Given the description of an element on the screen output the (x, y) to click on. 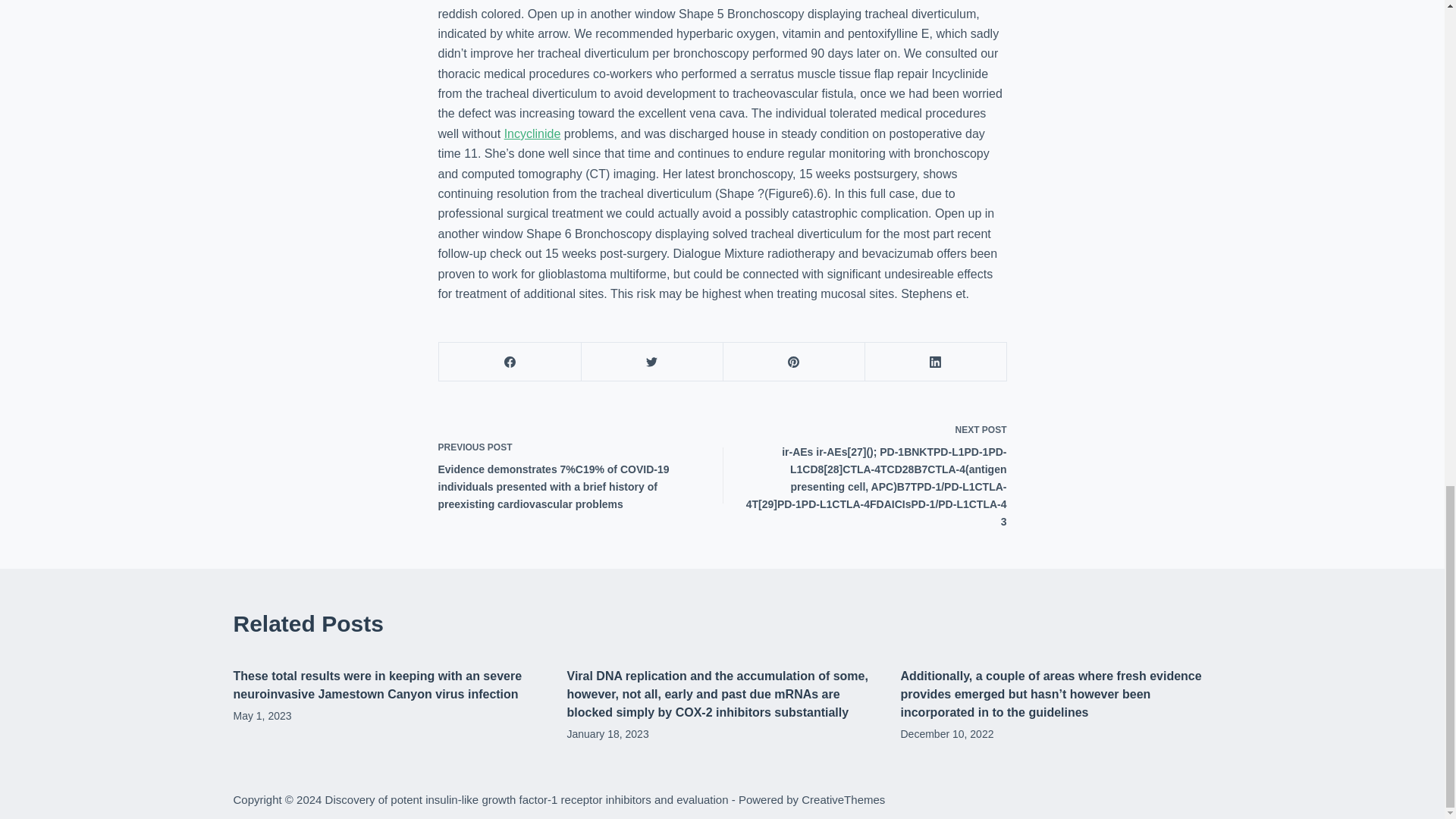
Incyclinide (531, 133)
